Given the description of an element on the screen output the (x, y) to click on. 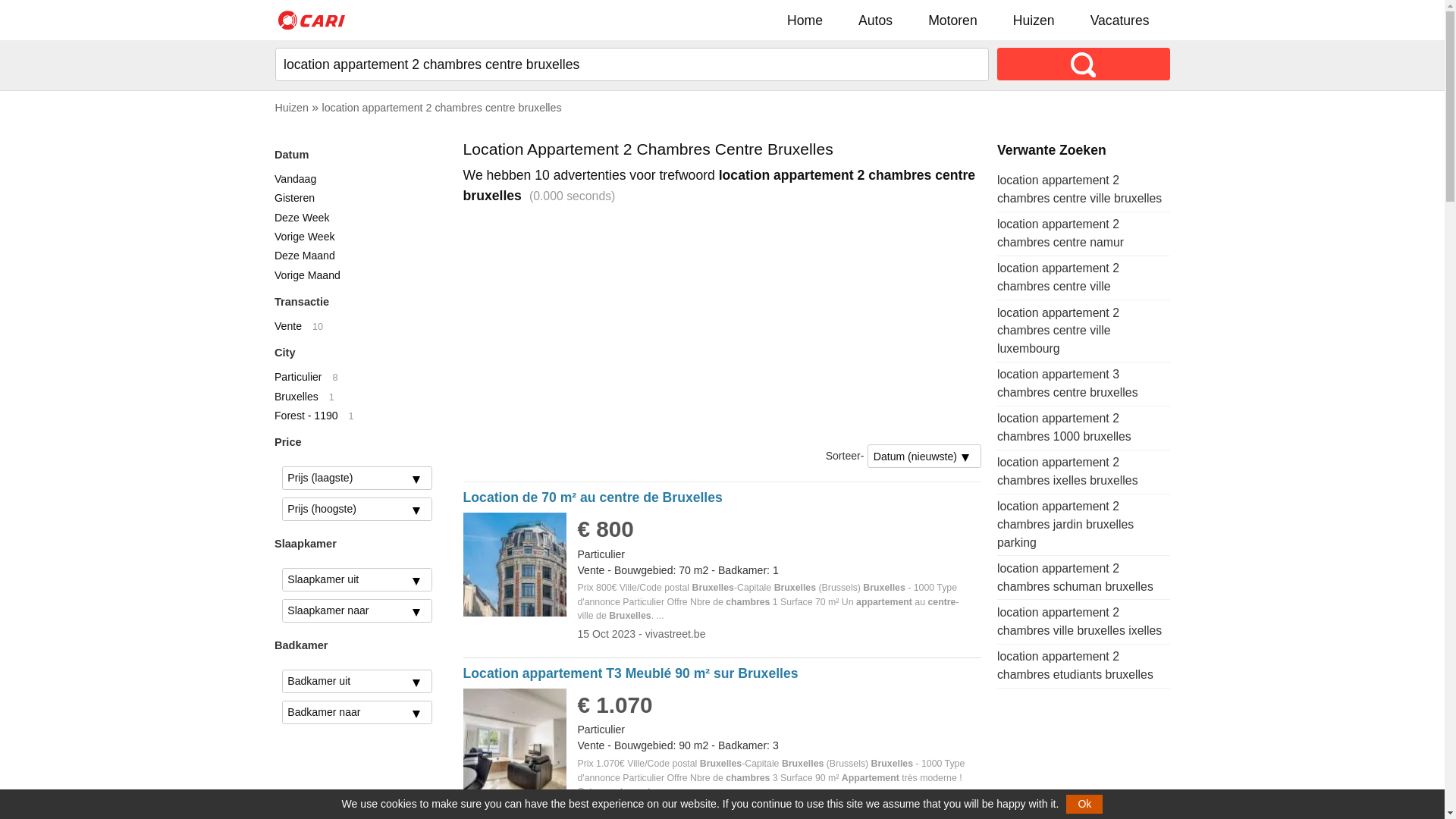
location appartement 2 chambres jardin bruxelles parking Element type: text (1065, 524)
location appartement 2 chambres etudiants bruxelles Element type: text (1075, 664)
location appartement 2 chambres centre namur Element type: text (1060, 232)
location appartement 2 chambres 1000 bruxelles Element type: text (1064, 426)
location appartement 3 chambres centre bruxelles Element type: text (1067, 382)
location appartement 2 chambres centre ville bruxelles Element type: text (1079, 188)
Motoren Element type: text (952, 20)
Huizen Element type: text (1033, 20)
Home Element type: text (804, 20)
Huizen Element type: text (290, 107)
location appartement 2 chambres ville bruxelles ixelles Element type: text (1079, 621)
location appartement 2 chambres centre ville Element type: text (1058, 276)
Ok Element type: text (1084, 803)
location appartement 2 chambres schuman bruxelles Element type: text (1075, 577)
location appartement 2 chambres centre bruxelles Element type: text (441, 107)
location appartement 2 chambres ixelles bruxelles Element type: text (1067, 470)
Autos Element type: text (875, 20)
Vacatures Element type: text (1119, 20)
Advertisement Element type: hover (722, 325)
location appartement 2 chambres centre ville luxembourg Element type: text (1058, 330)
